Given the description of an element on the screen output the (x, y) to click on. 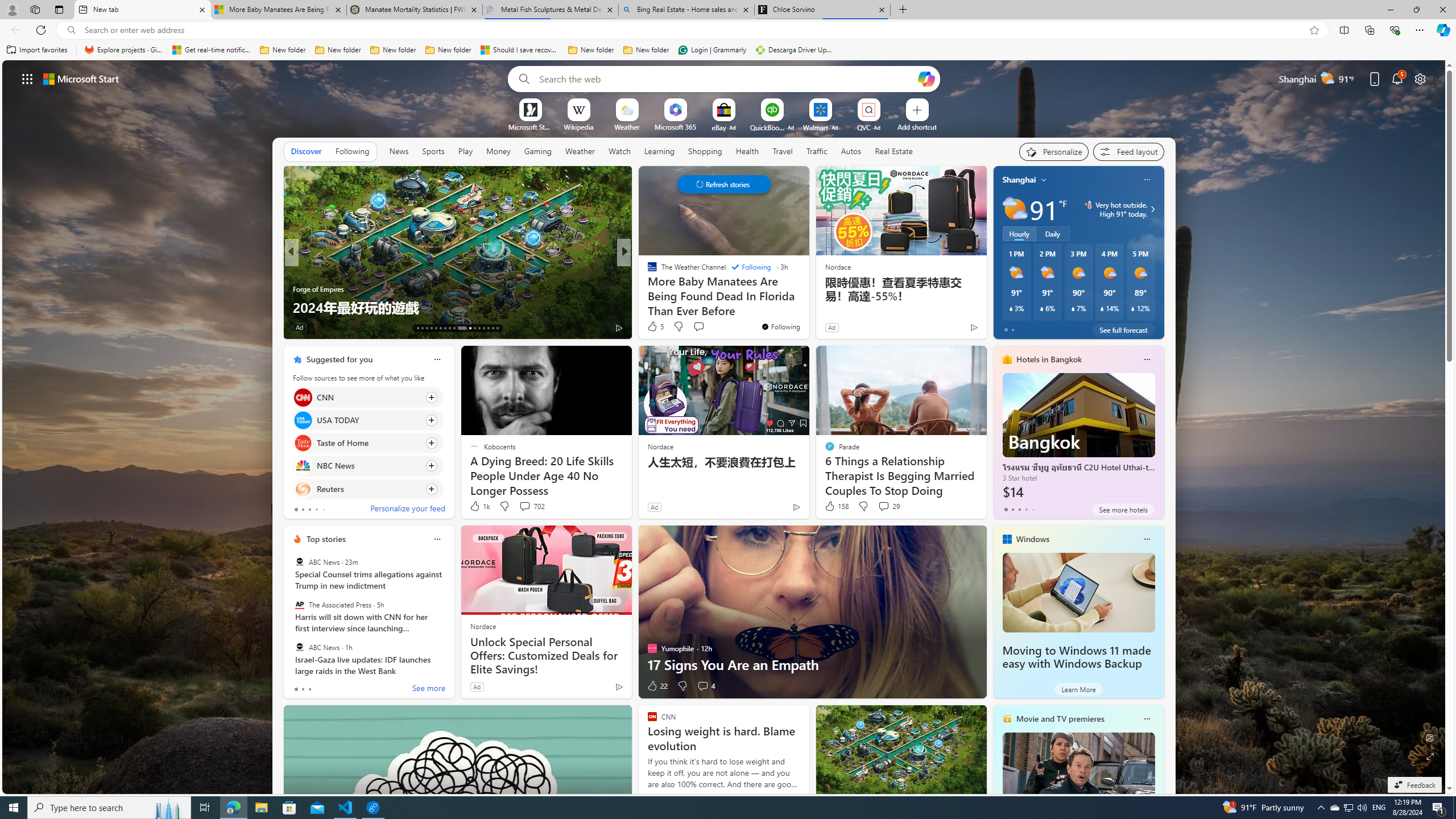
Money (497, 151)
151 Like (654, 327)
Weather (580, 151)
View comments 2 Comment (698, 327)
Feedback (1414, 784)
tab-3 (1025, 509)
AutomationID: tab-19 (444, 328)
View comments 29 Comment (888, 505)
View comments 247 Comment (6, 327)
Top stories (325, 538)
View comments 5 Comment (703, 327)
